Given the description of an element on the screen output the (x, y) to click on. 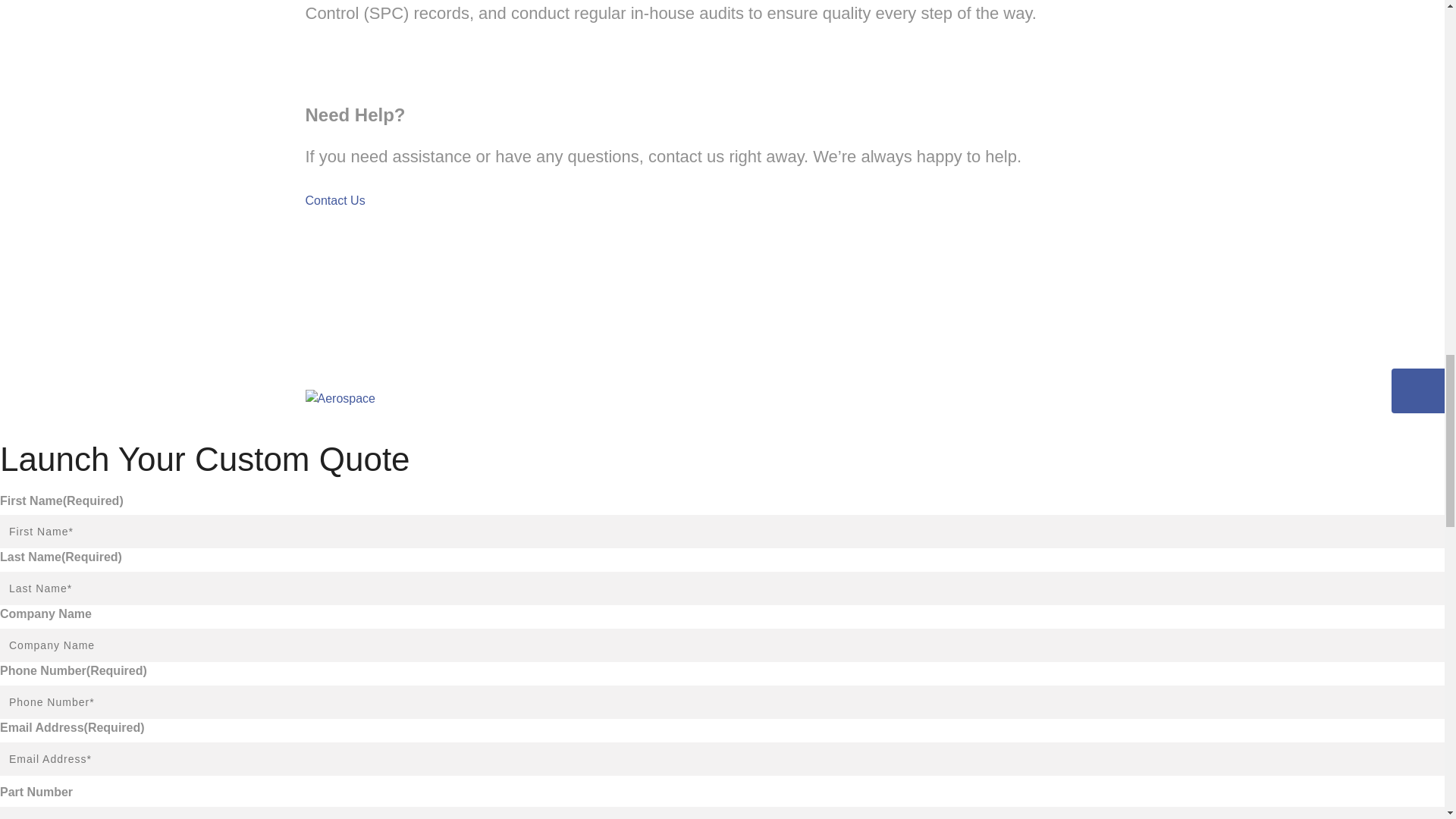
Back to Top (418, 379)
Back to Top (418, 327)
Aerospace (339, 398)
